Given the description of an element on the screen output the (x, y) to click on. 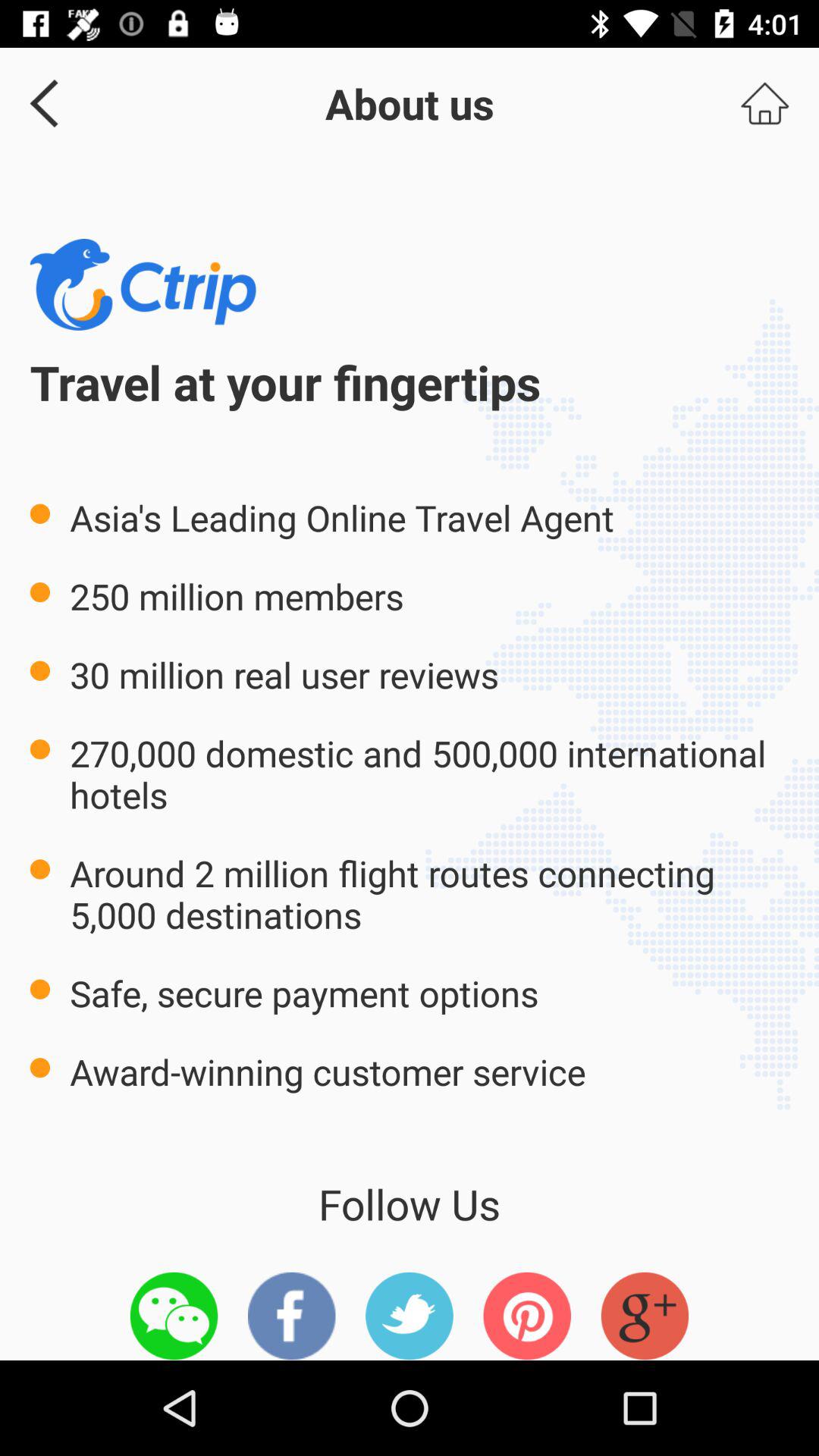
open related twitter page (409, 1315)
